Given the description of an element on the screen output the (x, y) to click on. 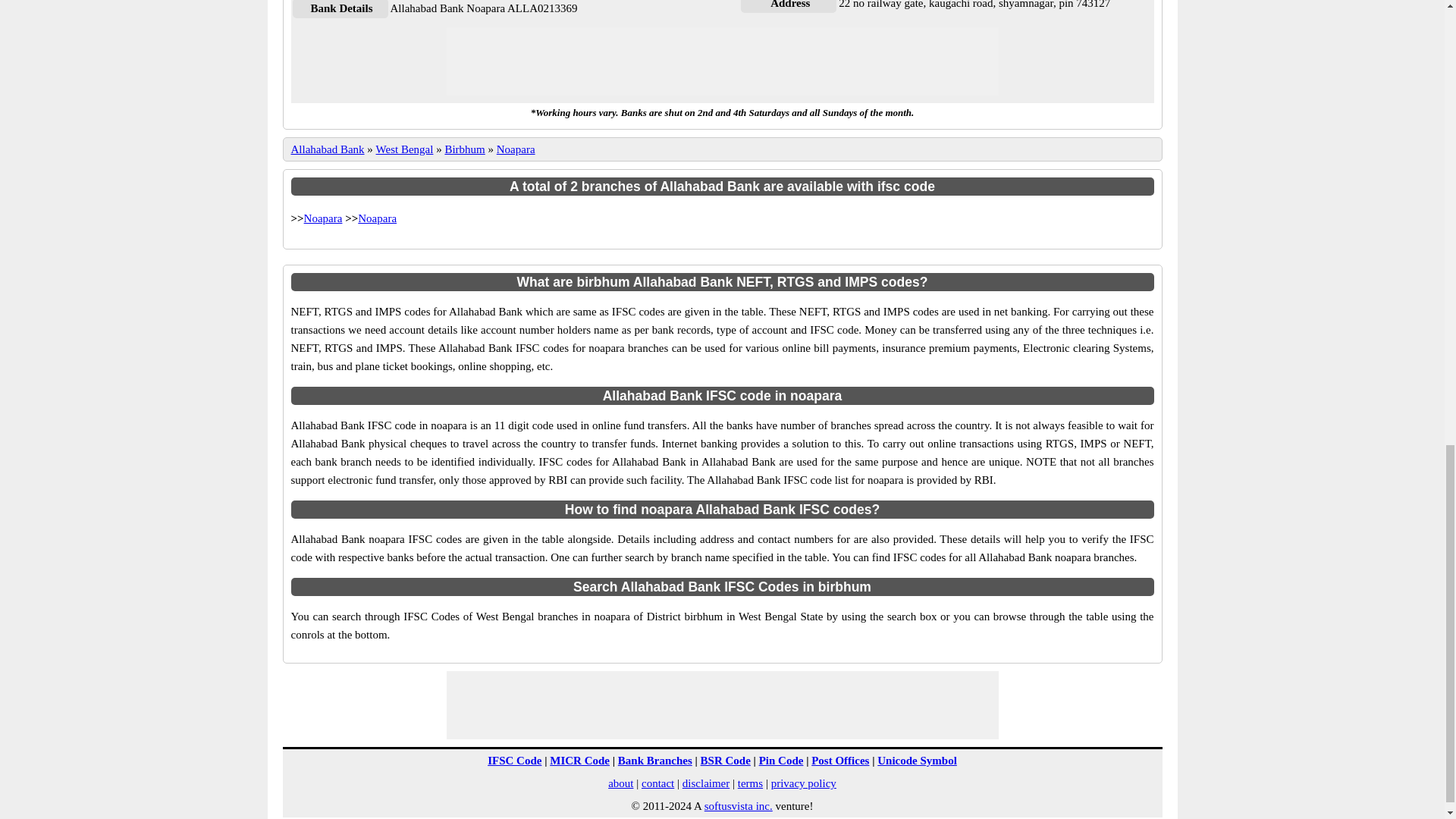
IFSC Code Finder (514, 760)
MICR Code Finder (580, 760)
West Bengal (404, 149)
Unicode Symbol (916, 760)
IFSC Code (514, 760)
Noapara (515, 149)
Bank Branches (655, 760)
Birbhum (464, 149)
Noapara (323, 218)
terms (750, 783)
disclaimer (705, 783)
MICR Code (580, 760)
Pin Code (780, 760)
contact (658, 783)
Post Offices (839, 760)
